Given the description of an element on the screen output the (x, y) to click on. 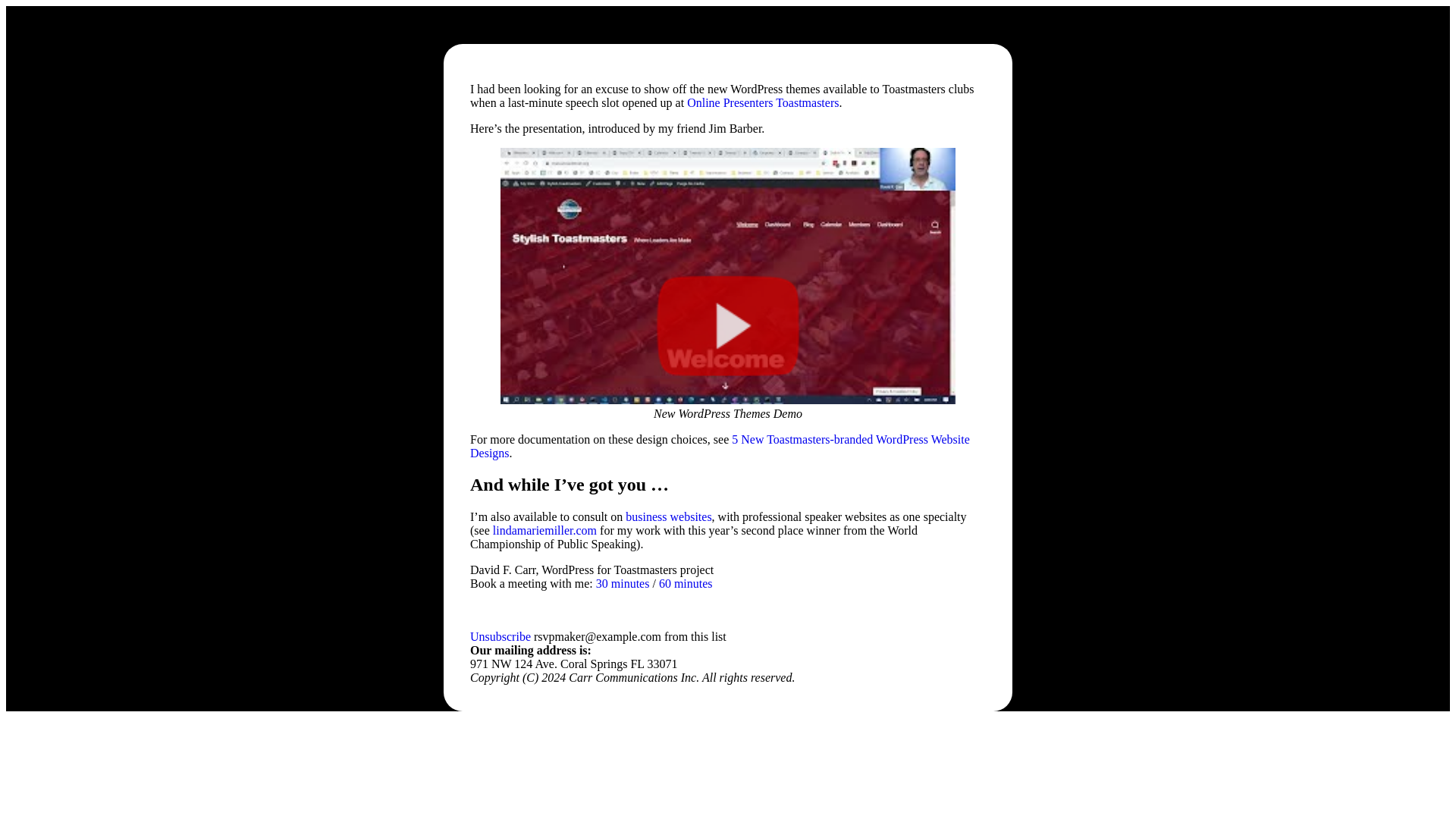
Unsubscribe (500, 635)
60 minutes (686, 583)
Online Presenters Toastmasters (762, 102)
30 minutes (622, 583)
5 New Toastmasters-branded WordPress Website Designs (719, 445)
lindamariemiller.com (544, 530)
business websites (668, 516)
